Given the description of an element on the screen output the (x, y) to click on. 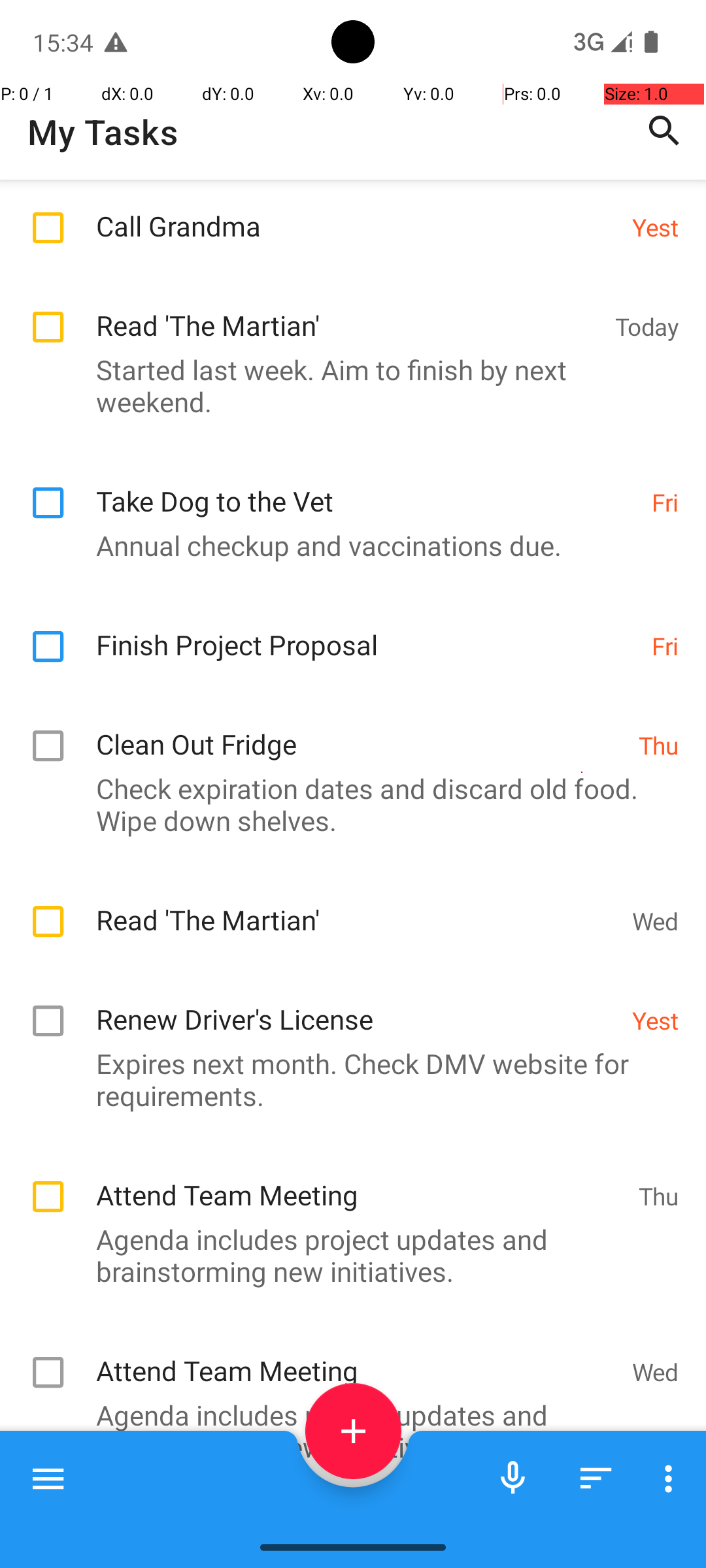
Call Grandma Element type: android.widget.TextView (357, 211)
Read 'The Martian' Element type: android.widget.TextView (348, 310)
Started last week. Aim to finish by next weekend. Element type: android.widget.TextView (346, 385)
Take Dog to the Vet Element type: android.widget.TextView (367, 486)
Annual checkup and vaccinations due. Element type: android.widget.TextView (346, 544)
Finish Project Proposal Element type: android.widget.TextView (367, 630)
Clean Out Fridge Element type: android.widget.TextView (360, 729)
Check expiration dates and discard old food. Wipe down shelves. Element type: android.widget.TextView (346, 803)
Renew Driver's License Element type: android.widget.TextView (357, 1004)
Expires next month. Check DMV website for requirements. Element type: android.widget.TextView (346, 1078)
Attend Team Meeting Element type: android.widget.TextView (360, 1180)
Agenda includes project updates and brainstorming new initiatives. Element type: android.widget.TextView (346, 1254)
Schedule Dentist Appointment Element type: android.widget.TextView (357, 1513)
